Given the description of an element on the screen output the (x, y) to click on. 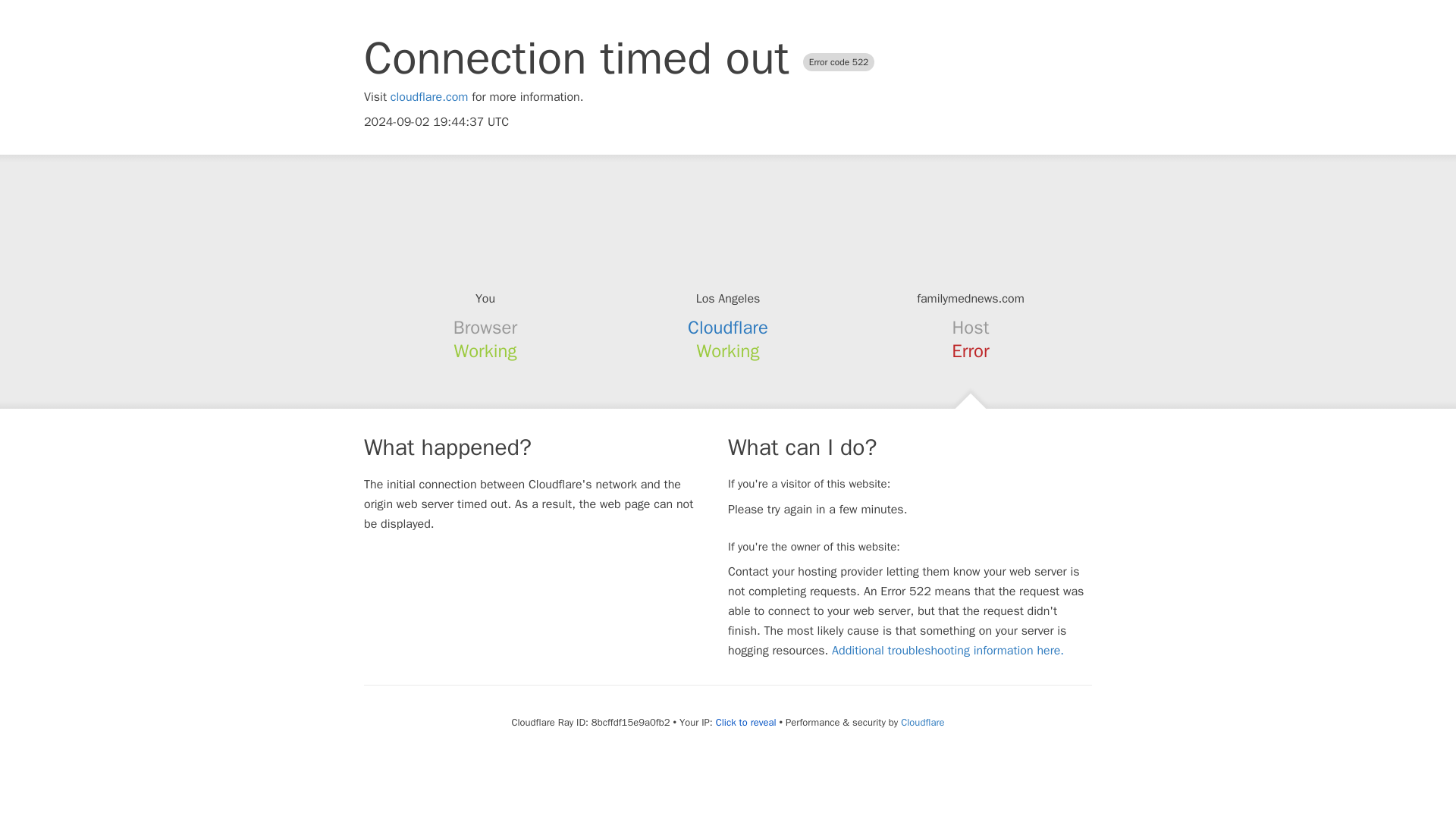
cloudflare.com (429, 96)
Additional troubleshooting information here. (947, 650)
Click to reveal (746, 722)
Cloudflare (727, 327)
Cloudflare (922, 721)
